Given the description of an element on the screen output the (x, y) to click on. 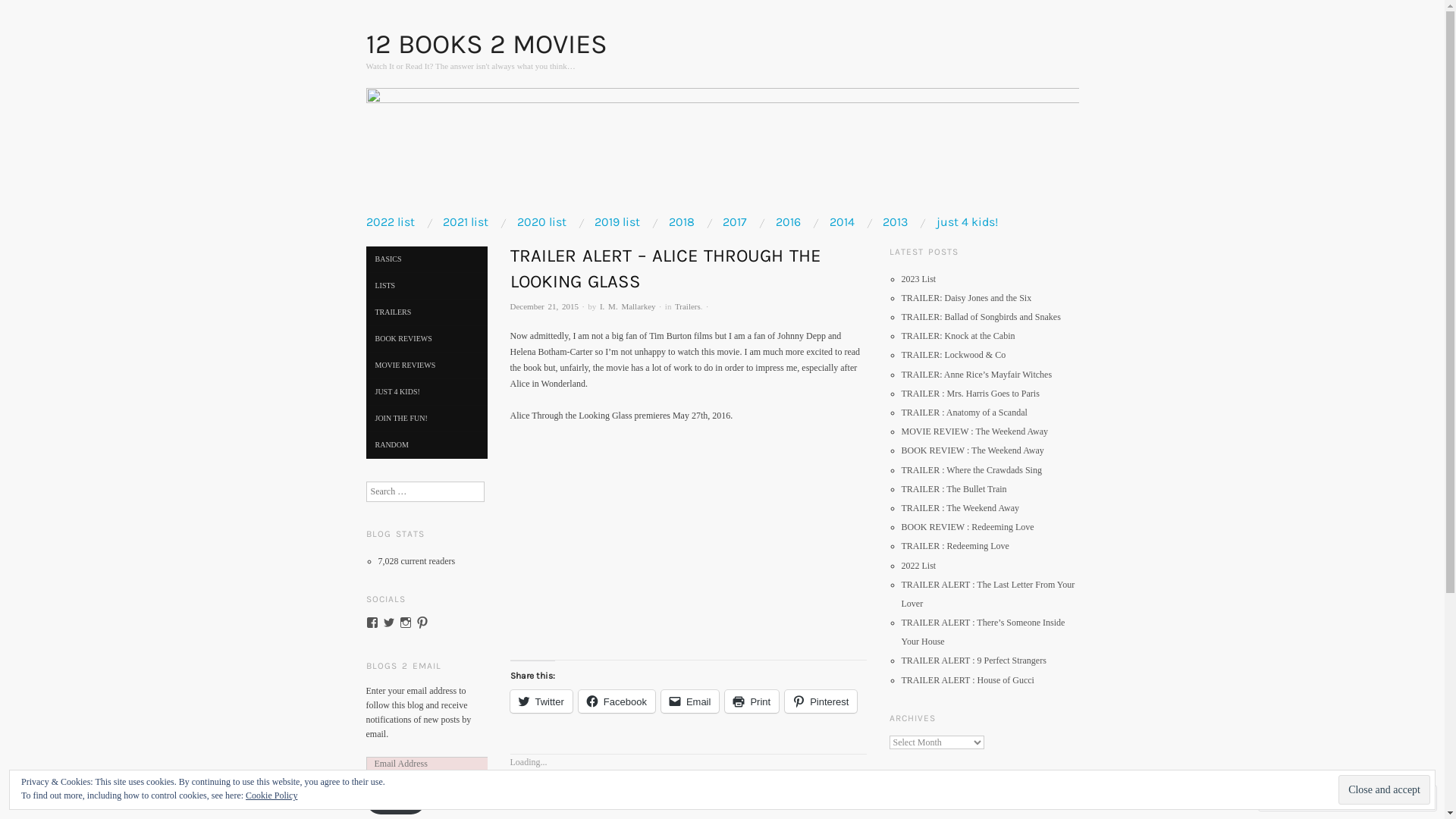
TRAILER : The Bullet Train Element type: text (953, 488)
MOVIE REVIEW : The Weekend Away Element type: text (974, 431)
TRAILERS Element type: text (425, 312)
12 Books 2 Movies Element type: hover (721, 150)
TRAILER ALERT : 9 Perfect Strangers Element type: text (972, 660)
BASICS Element type: text (425, 259)
Pinterest Element type: text (820, 701)
2017 Element type: text (734, 222)
TRAILER : Redeeming Love Element type: text (954, 545)
LISTS Element type: text (425, 285)
TRAILER ALERT : House of Gucci Element type: text (966, 679)
2019 list Element type: text (617, 222)
2013 Element type: text (894, 222)
skip to content Element type: text (407, 222)
Follow Element type: text (394, 799)
just 4 kids! Element type: text (966, 222)
Email Element type: text (690, 701)
2014 Element type: text (841, 222)
Facebook Element type: text (616, 701)
December 21, 2015 Element type: text (543, 305)
2020 list Element type: text (541, 222)
Like or Reblog Element type: hover (687, 775)
2023 List Element type: text (917, 278)
TRAILER : Mrs. Harris Goes to Paris Element type: text (969, 393)
2022 List Element type: text (917, 565)
TRAILER: Lockwood & Co Element type: text (952, 354)
Search Element type: text (23, 10)
RANDOM Element type: text (425, 445)
12 BOOKS 2 MOVIES Element type: text (485, 43)
2018 Element type: text (681, 222)
2016 Element type: text (787, 222)
Cookie Policy Element type: text (271, 795)
TRAILER: Knock at the Cabin Element type: text (957, 335)
BOOK REVIEW : Redeeming Love Element type: text (966, 526)
MOVIE REVIEWS Element type: text (425, 365)
TRAILER : The Weekend Away Element type: text (959, 507)
TRAILER ALERT : The Last Letter From Your Lover Element type: text (987, 593)
JUST 4 KIDS! Element type: text (425, 391)
JOIN THE FUN! Element type: text (425, 418)
Follow Element type: text (1374, 797)
TRAILER: Daisy Jones and the Six Element type: text (965, 297)
TRAILER : Where the Crawdads Sing Element type: text (970, 469)
Trailers Element type: text (687, 305)
TRAILER: Ballad of Songbirds and Snakes Element type: text (980, 316)
TRAILER : Anatomy of a Scandal Element type: text (963, 412)
Print Element type: text (751, 701)
2021 list Element type: text (465, 222)
Close and accept Element type: text (1384, 789)
BOOK REVIEW : The Weekend Away Element type: text (971, 450)
I. M. Mallarkey Element type: text (627, 305)
BOOK REVIEWS Element type: text (425, 338)
Comment Element type: text (1299, 797)
2022 list Element type: text (389, 222)
Twitter Element type: text (540, 701)
